Given the description of an element on the screen output the (x, y) to click on. 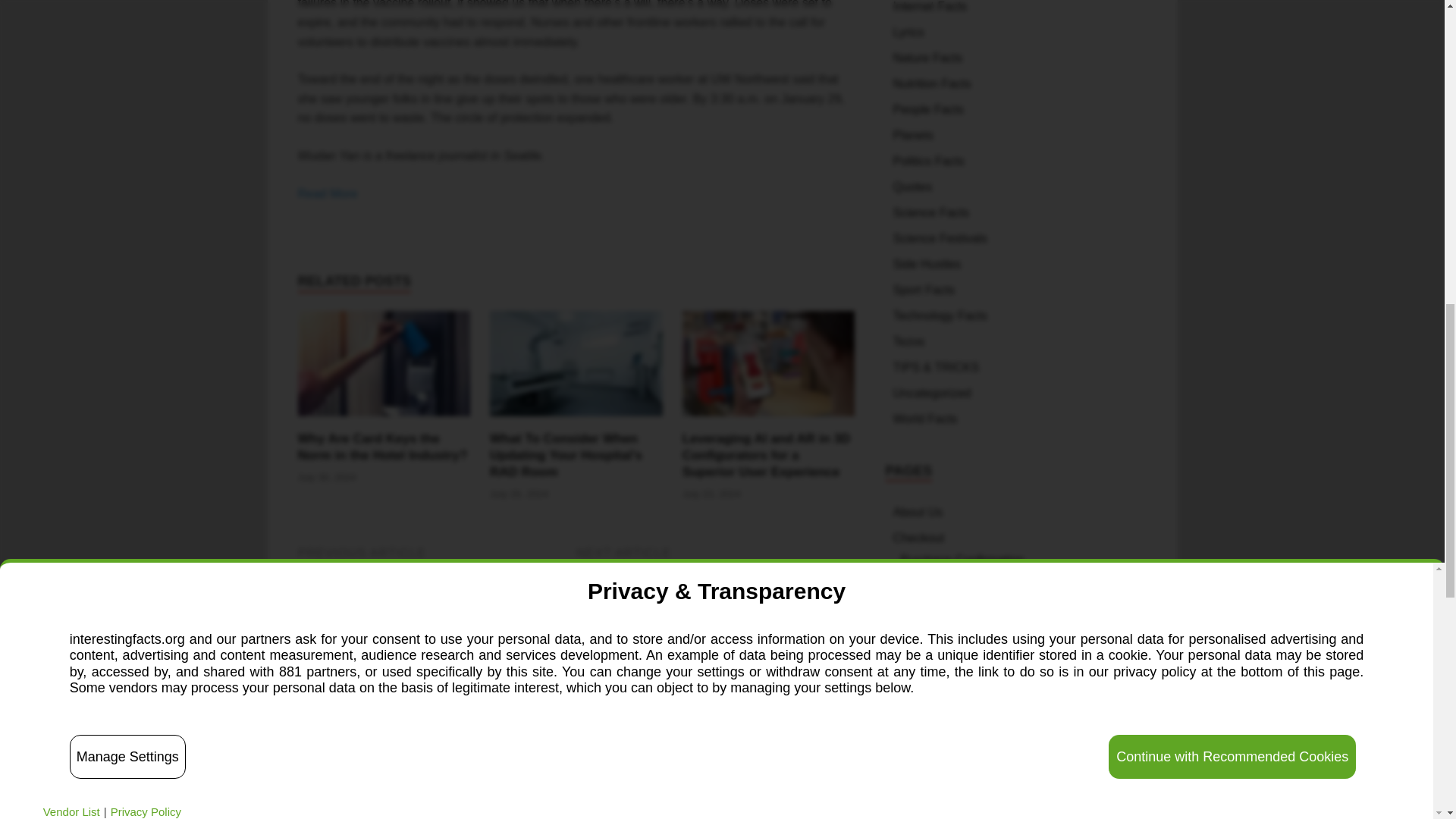
Why Are Card Keys the Norm in the Hotel Industry? (383, 420)
Read More (326, 193)
Why Are Card Keys the Norm in the Hotel Industry? (382, 446)
Why Are Card Keys the Norm in the Hotel Industry? (382, 446)
